Given the description of an element on the screen output the (x, y) to click on. 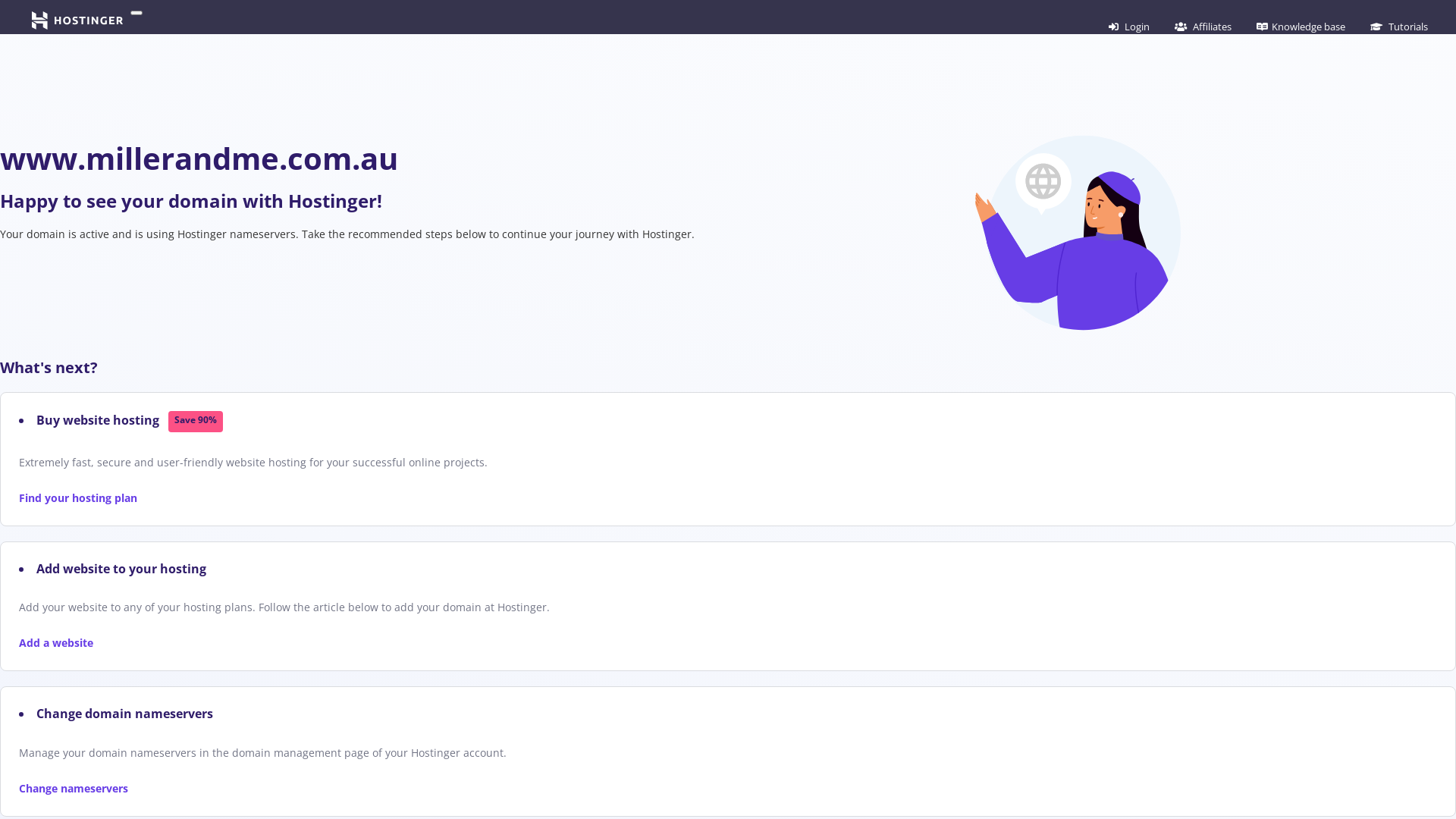
Login Element type: text (1128, 26)
Knowledge base Element type: text (1300, 26)
Change nameservers Element type: text (73, 788)
Tutorials Element type: text (1398, 26)
Add a website Element type: text (55, 642)
Find your hosting plan Element type: text (77, 497)
Affiliates Element type: text (1202, 26)
